Given the description of an element on the screen output the (x, y) to click on. 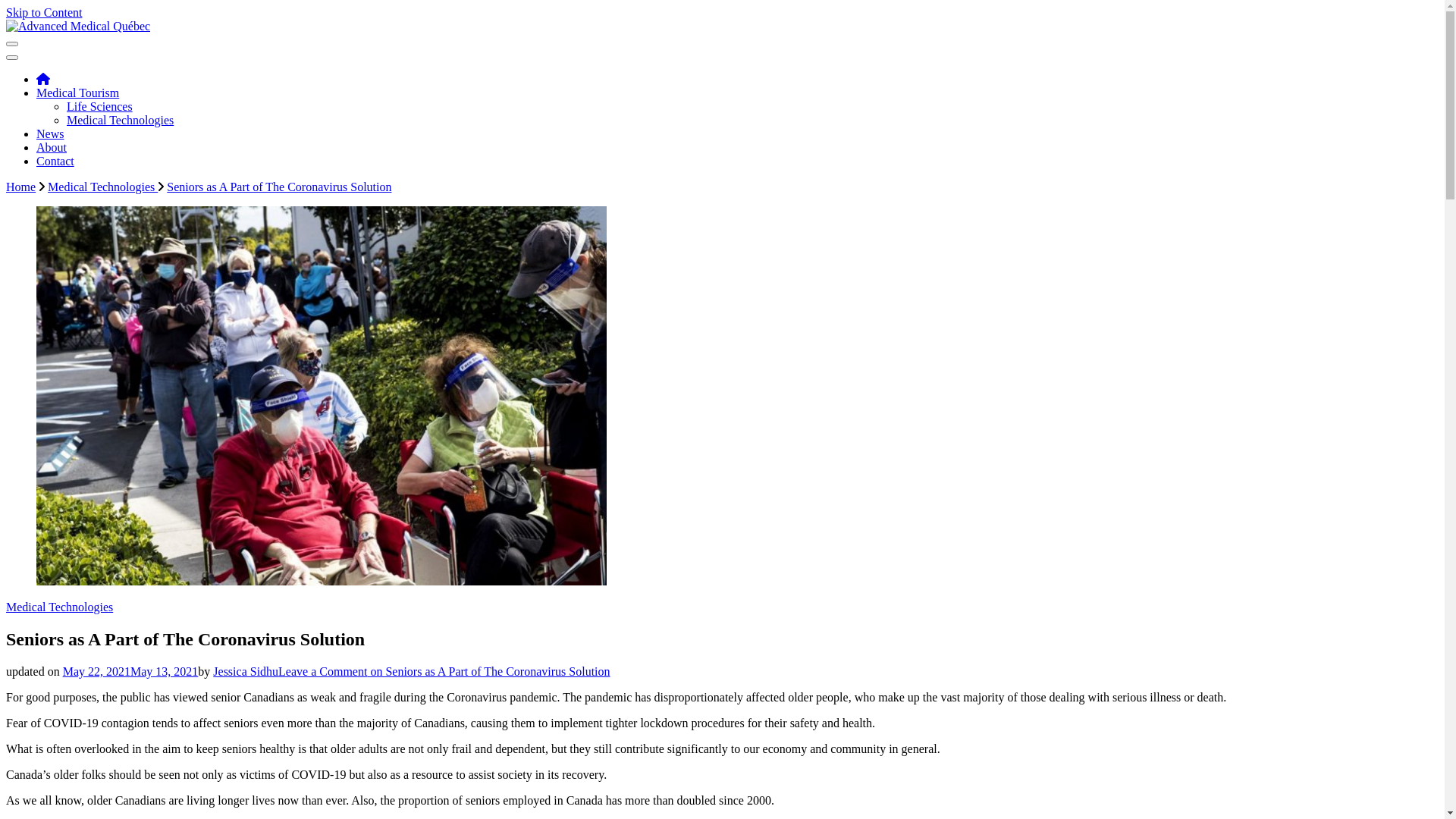
Skip to Content Element type: text (43, 12)
Contact Element type: text (55, 160)
May 22, 2021May 13, 2021 Element type: text (130, 671)
Seniors as A Part of The Coronavirus Solution Element type: text (278, 186)
Medical Technologies Element type: text (102, 186)
Home Element type: text (20, 186)
Medical Technologies Element type: text (59, 606)
Jessica Sidhu Element type: text (245, 671)
Medical Technologies Element type: text (119, 119)
Medical Tourism Element type: text (77, 92)
About Element type: text (51, 147)
Life Sciences Element type: text (99, 106)
News Element type: text (49, 133)
